Given the description of an element on the screen output the (x, y) to click on. 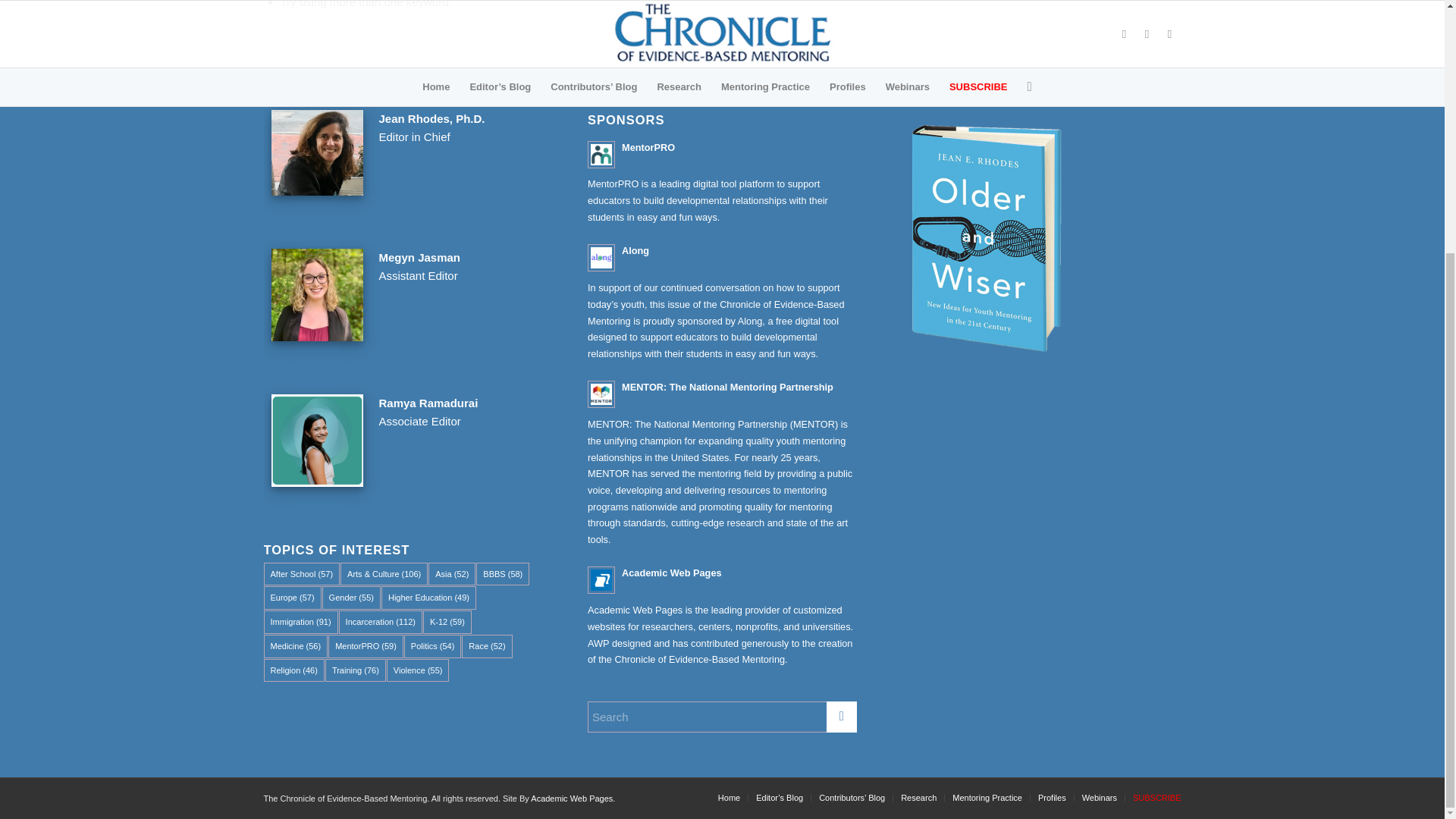
Read: MentorPRO (601, 154)
Read: Along (635, 250)
Read: MENTOR: The National Mentoring Partnership (601, 393)
Read: Along (601, 257)
Read: Academic Web Pages (601, 579)
Read: MentorPRO (648, 147)
MentorPRO (648, 147)
Read: MENTOR: The National Mentoring Partnership (726, 387)
